Given the description of an element on the screen output the (x, y) to click on. 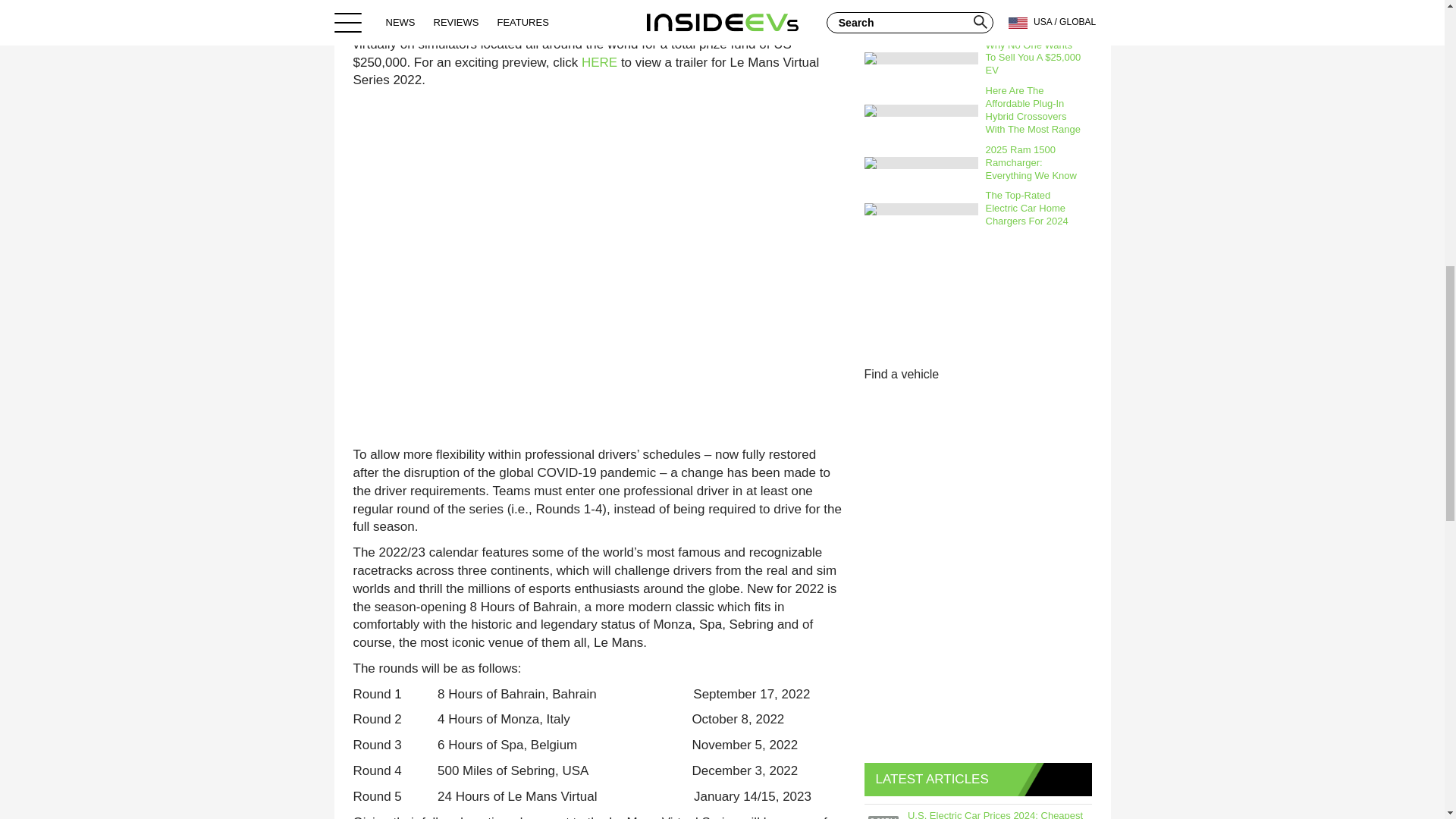
HERE (598, 62)
